Given the description of an element on the screen output the (x, y) to click on. 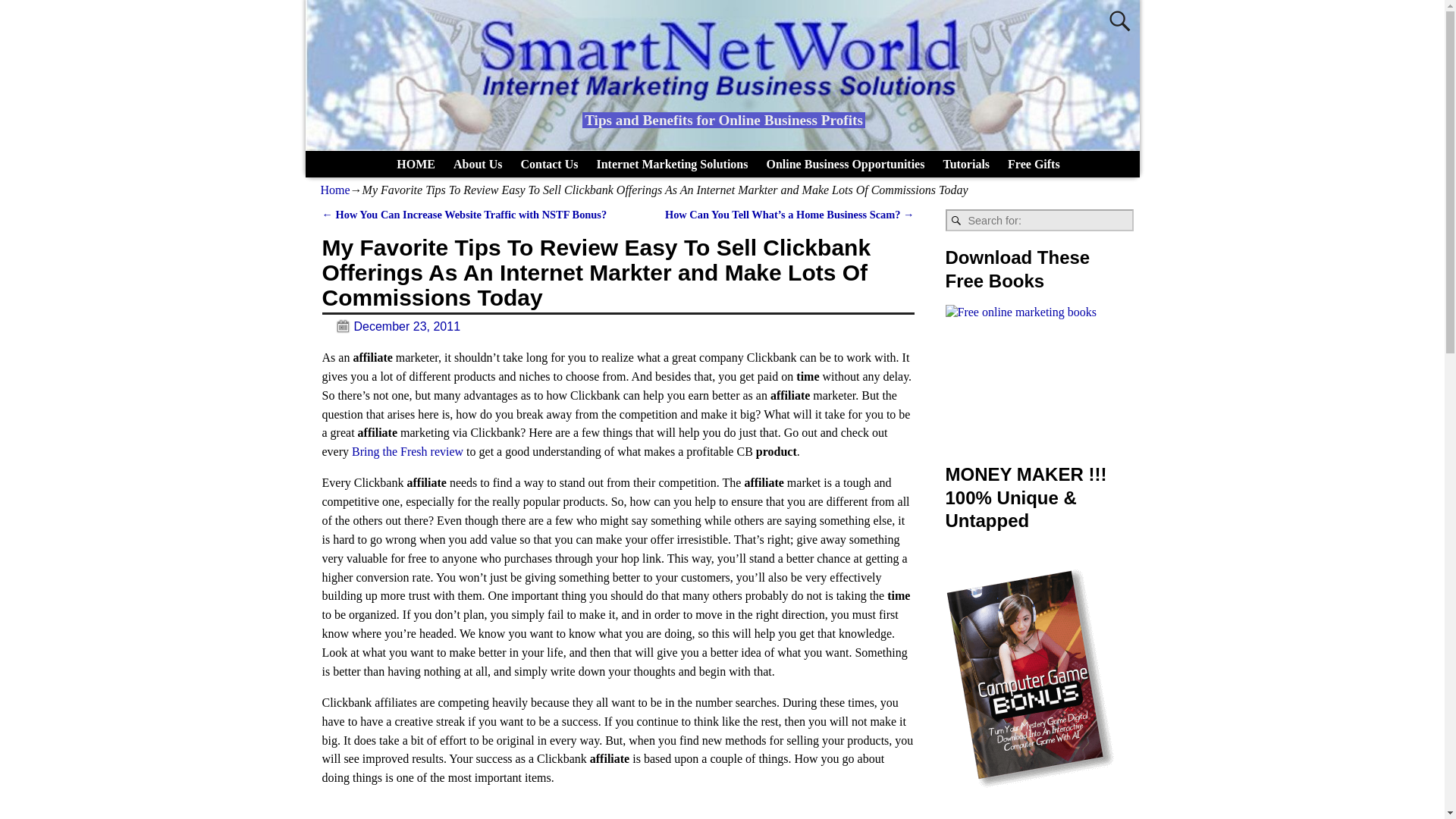
HOME (415, 163)
About Us (477, 163)
Online Business Opportunities (845, 163)
Internet Marketing Solutions (671, 163)
12:11 pm (390, 326)
Home (334, 189)
Contact Us (548, 163)
Free Gifts (1033, 163)
Tutorials (965, 163)
Bring the Fresh review (407, 451)
December 23, 2011 (390, 326)
